Given the description of an element on the screen output the (x, y) to click on. 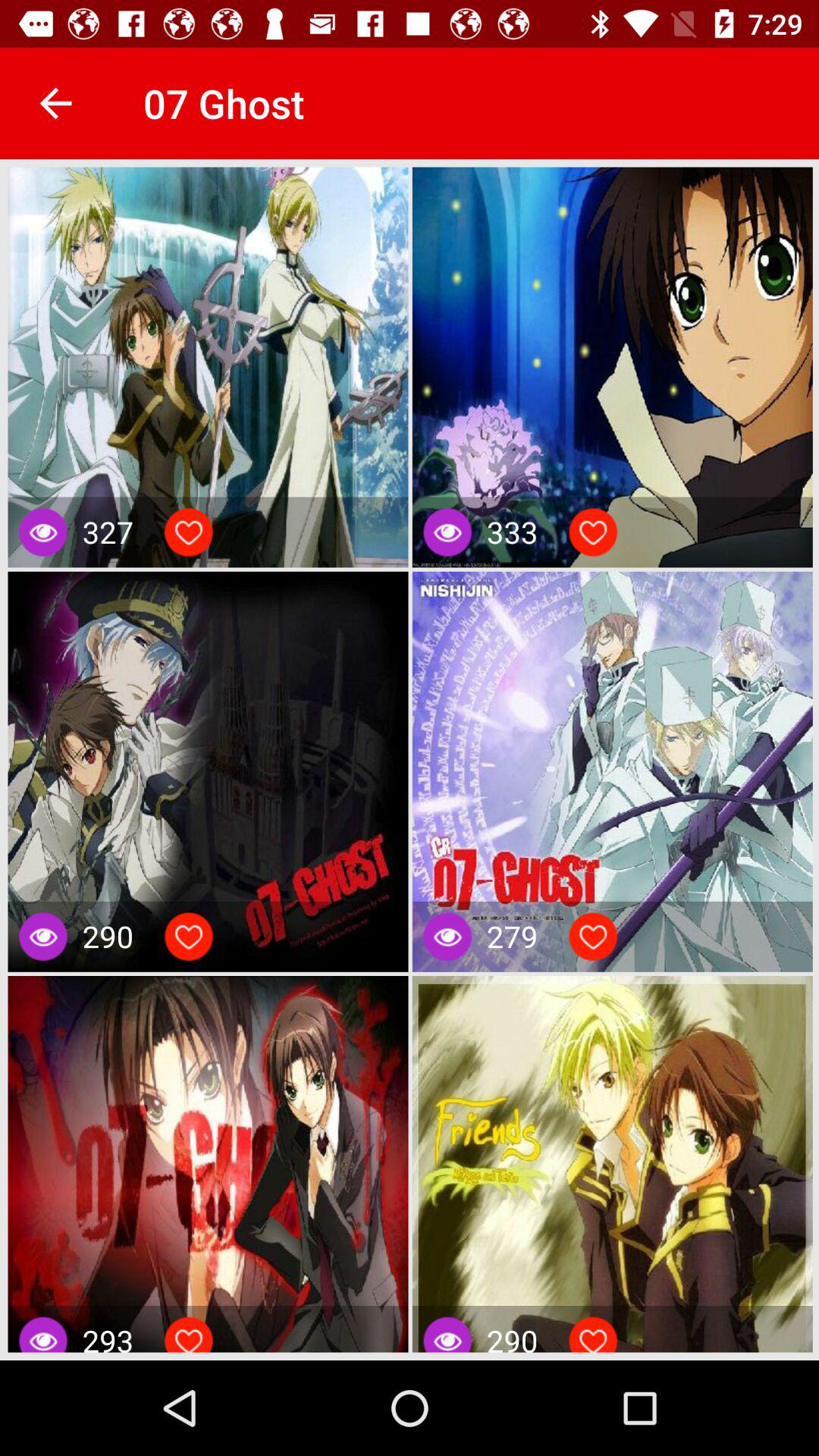
favorite the image (593, 936)
